Given the description of an element on the screen output the (x, y) to click on. 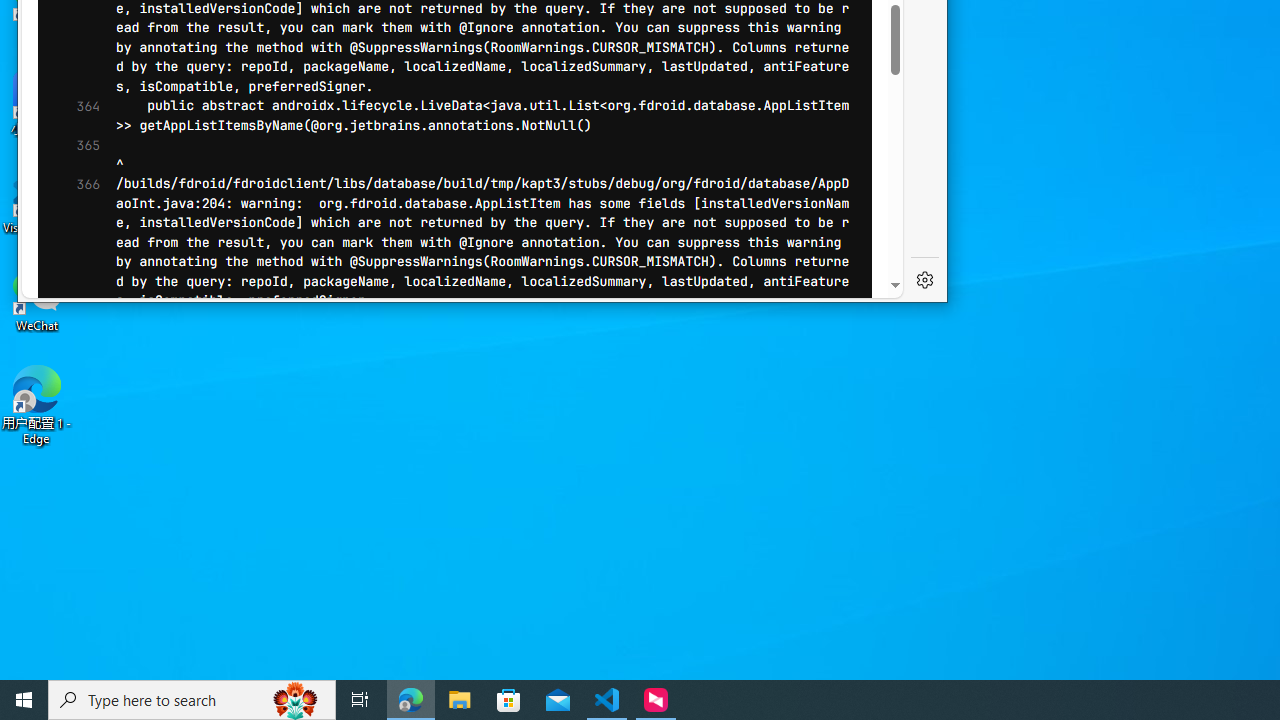
436 (73, 236)
447 (73, 452)
428 (73, 80)
435 (73, 217)
Type here to search (191, 699)
432 (73, 159)
Start (24, 699)
446 (73, 432)
426 (73, 41)
Task View (359, 699)
437 (73, 256)
